Given the description of an element on the screen output the (x, y) to click on. 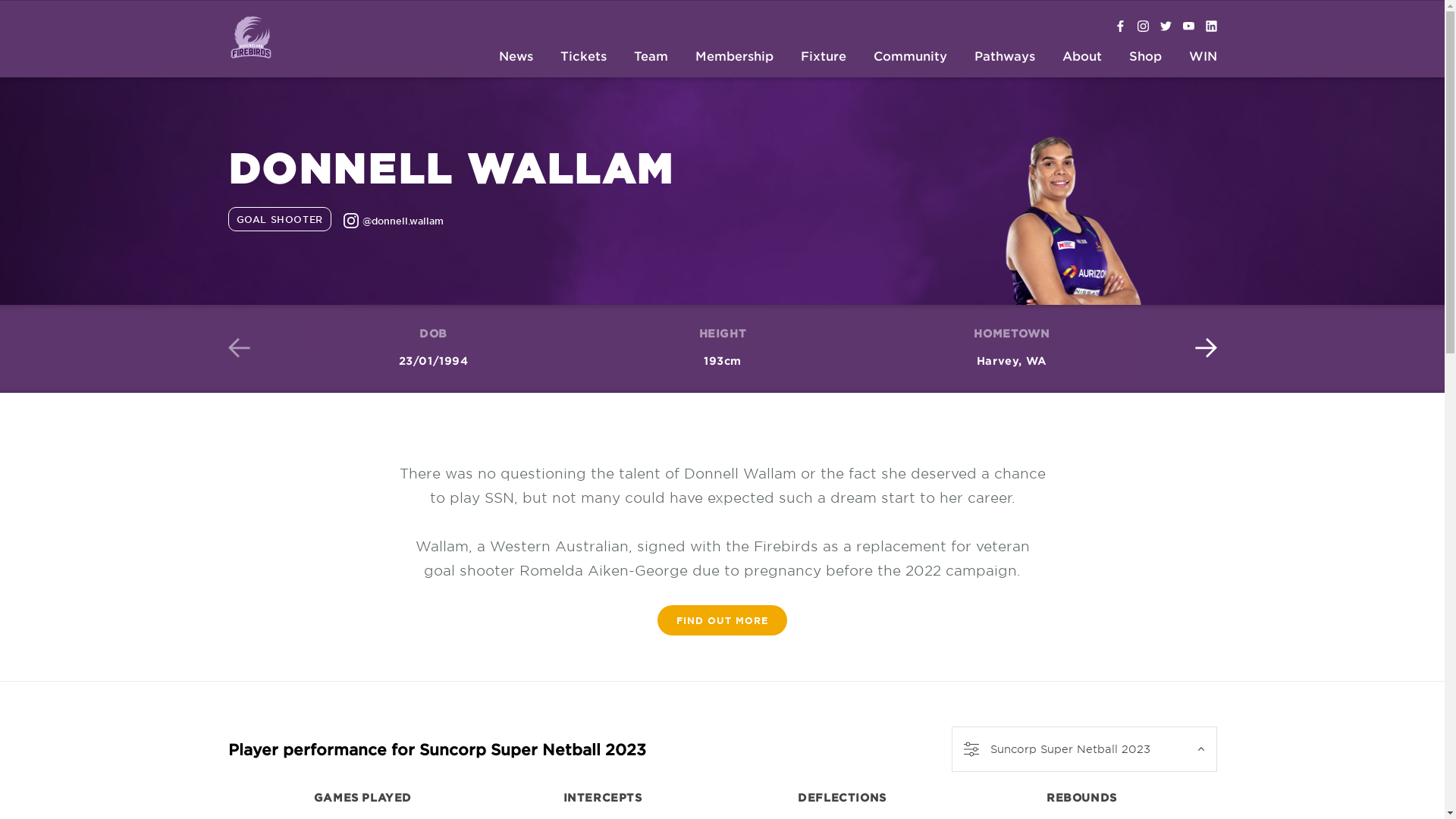
Firebirds Linkedin Element type: hover (1211, 26)
Firebirds on YouTube Element type: hover (1188, 26)
Tickets Element type: text (583, 57)
@firebirdsqld Element type: hover (1165, 26)
About Element type: text (1082, 57)
Fixture Element type: text (822, 57)
Suncorp Super Netball 2023 Element type: text (1083, 748)
Pathways Element type: text (1004, 57)
Shop Element type: text (1145, 57)
Community Element type: text (909, 57)
Membership Element type: text (734, 57)
Firebirds Facebook Element type: hover (1120, 26)
@donnell.wallam Element type: hover (393, 222)
News Element type: text (514, 57)
FIND OUT MORE Element type: text (722, 620)
@firebirdsqld Element type: hover (1142, 26)
Team Element type: text (649, 57)
WIN Element type: text (1201, 57)
